Given the description of an element on the screen output the (x, y) to click on. 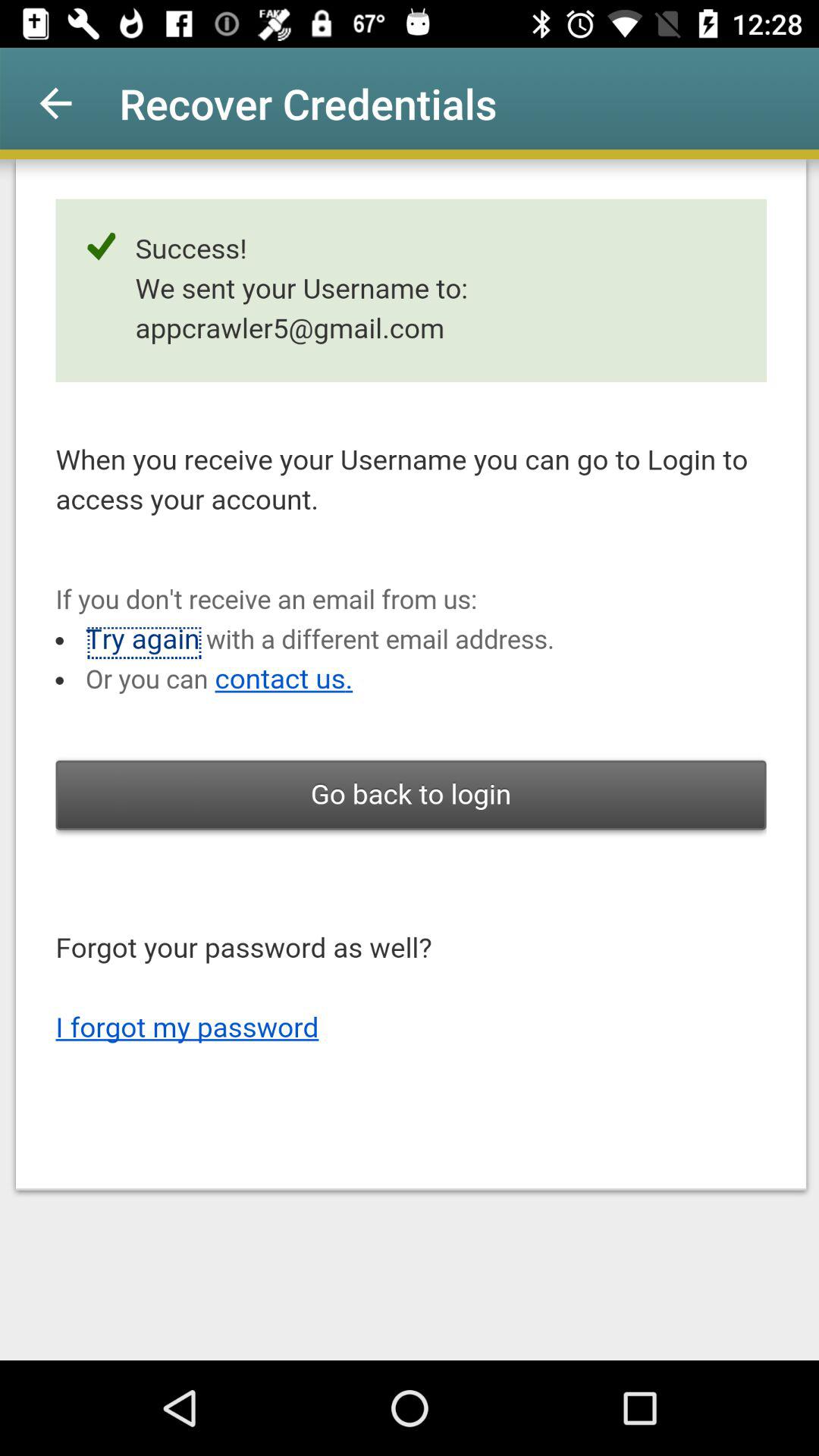
open the app next to recover credentials (55, 103)
